Given the description of an element on the screen output the (x, y) to click on. 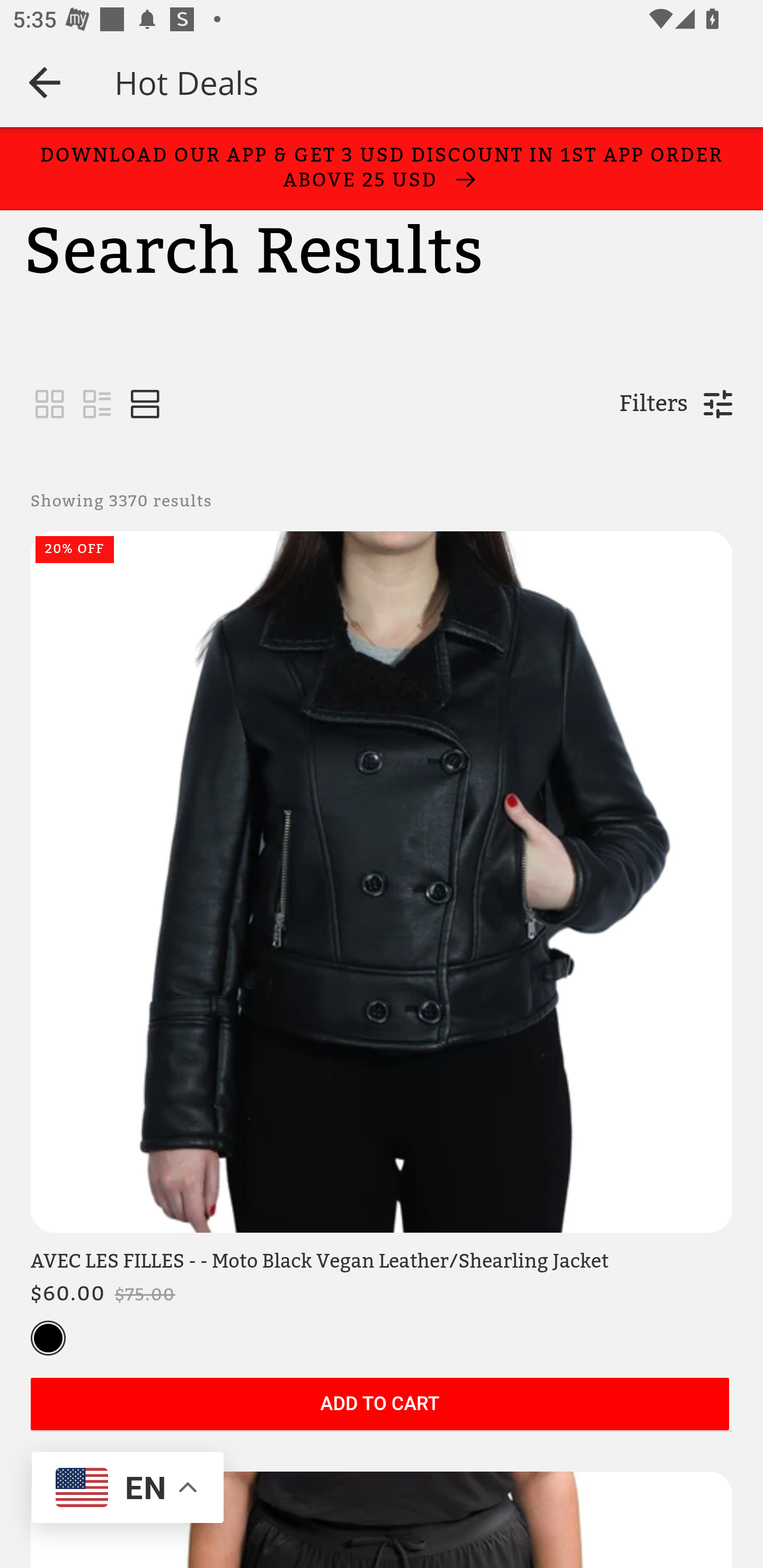
Navigate up (44, 82)
Filters (653, 404)
search-results-page?collection=sale# (50, 404)
search-results-page?collection=sale# (97, 404)
search-results-page?collection=sale# (145, 404)
Black (48, 1338)
ADD TO CART (379, 1404)
